Given the description of an element on the screen output the (x, y) to click on. 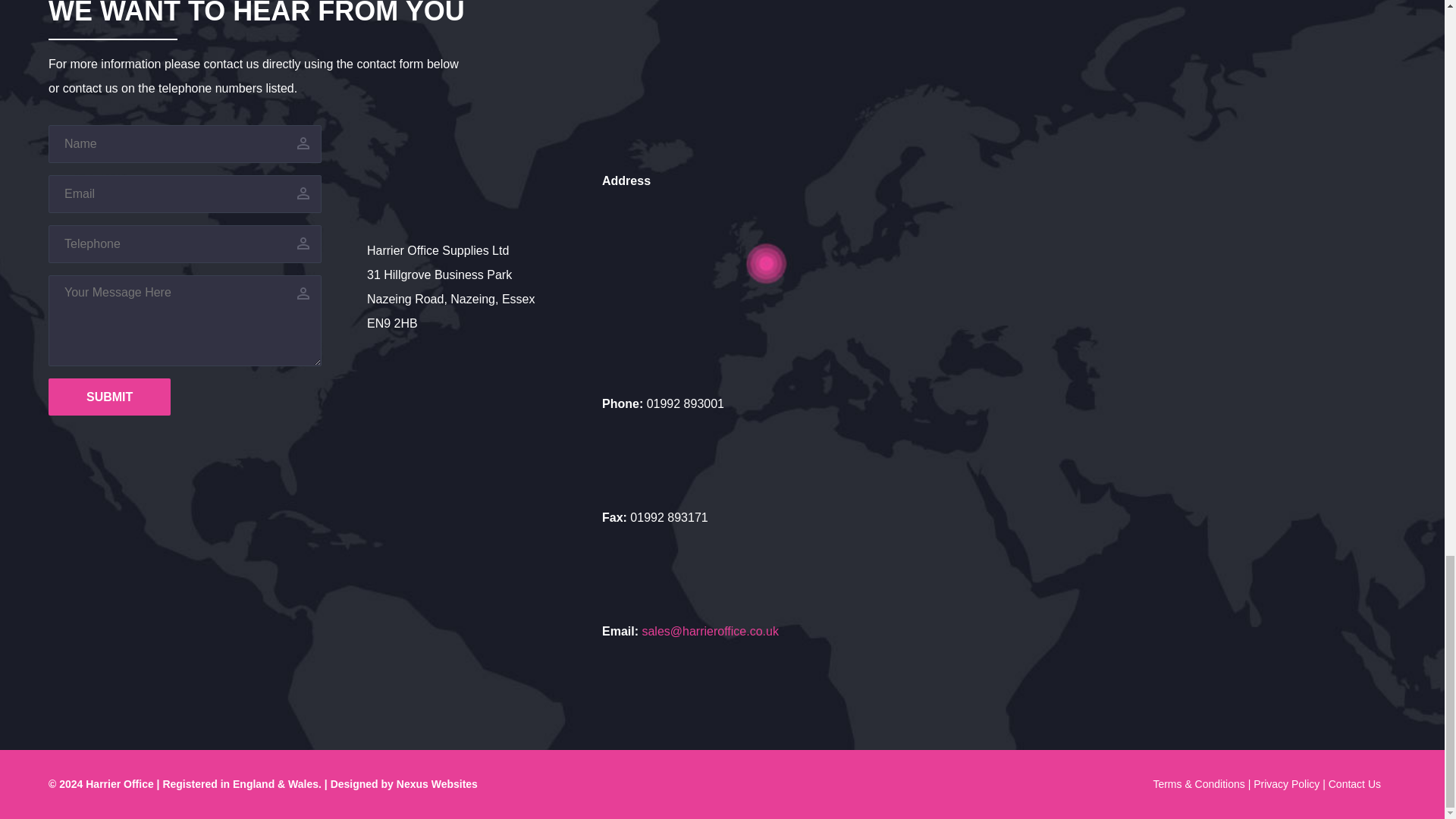
Submit (109, 396)
